Given the description of an element on the screen output the (x, y) to click on. 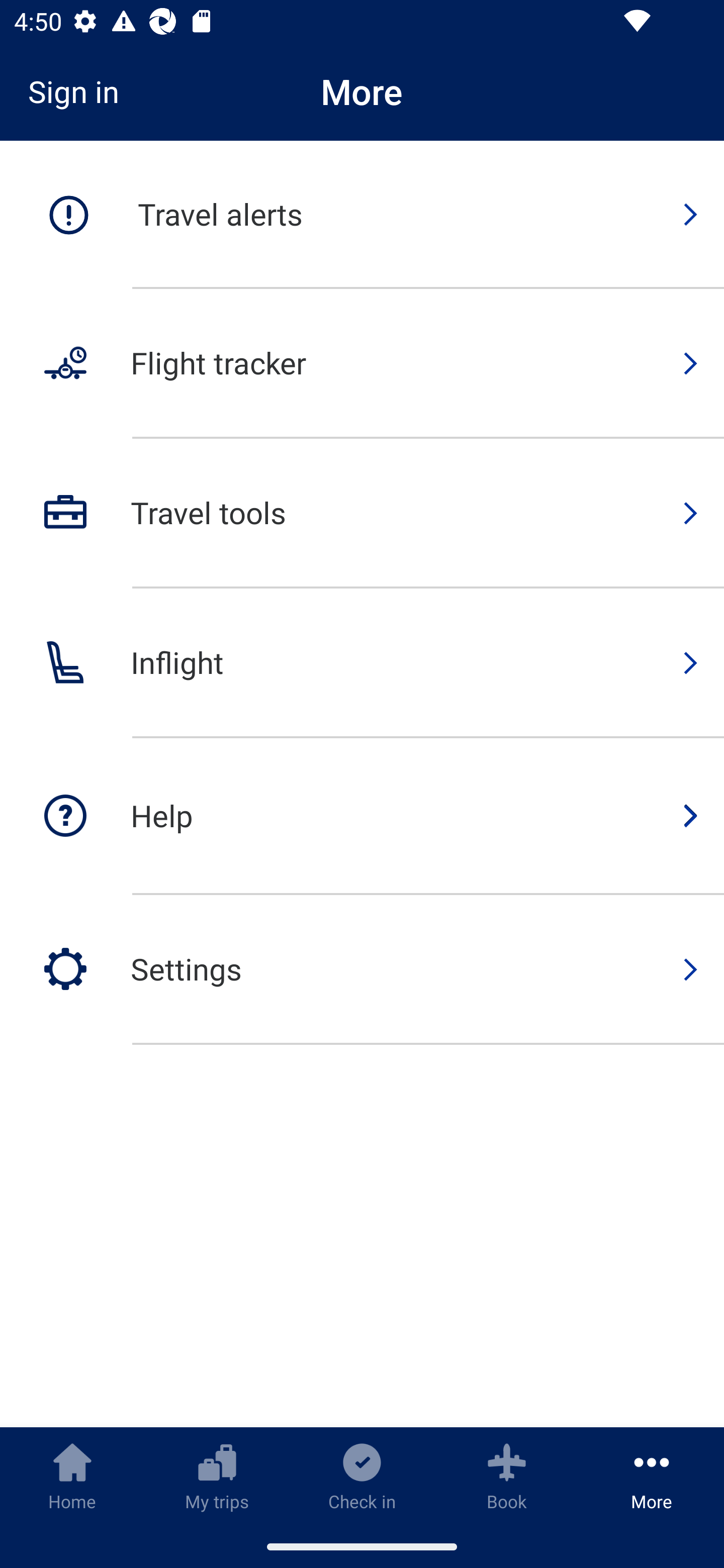
Sign in (80, 91)
Travel alerts (362, 214)
Flight tracker (362, 363)
Travel tools (362, 513)
Inflight (362, 663)
Help (362, 816)
Settings (362, 969)
Home (72, 1475)
My trips (216, 1475)
Check in (361, 1475)
Book (506, 1475)
